Given the description of an element on the screen output the (x, y) to click on. 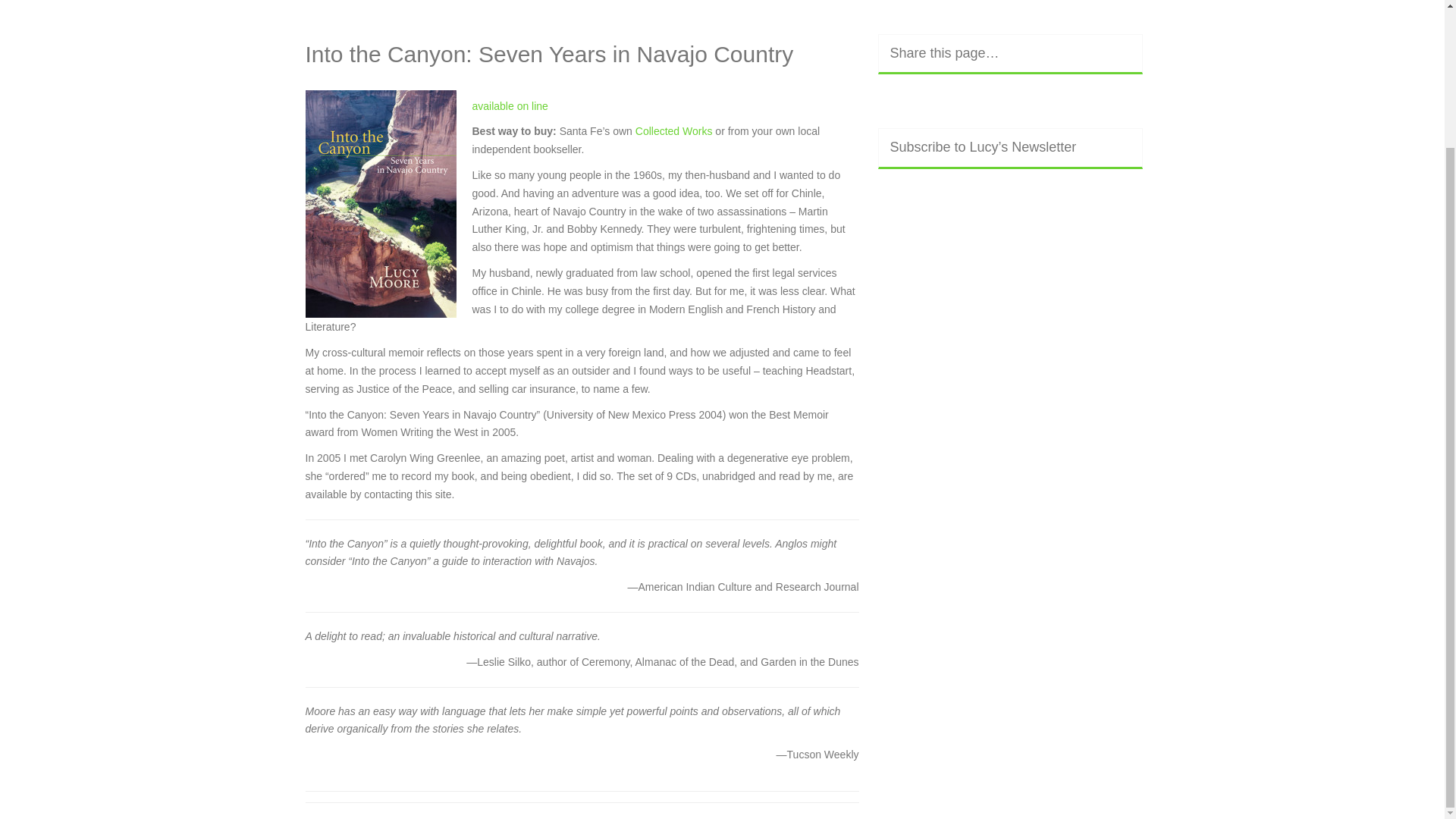
Collected Works (675, 131)
available on line (509, 105)
Buy this book from Amazon (509, 105)
